Given the description of an element on the screen output the (x, y) to click on. 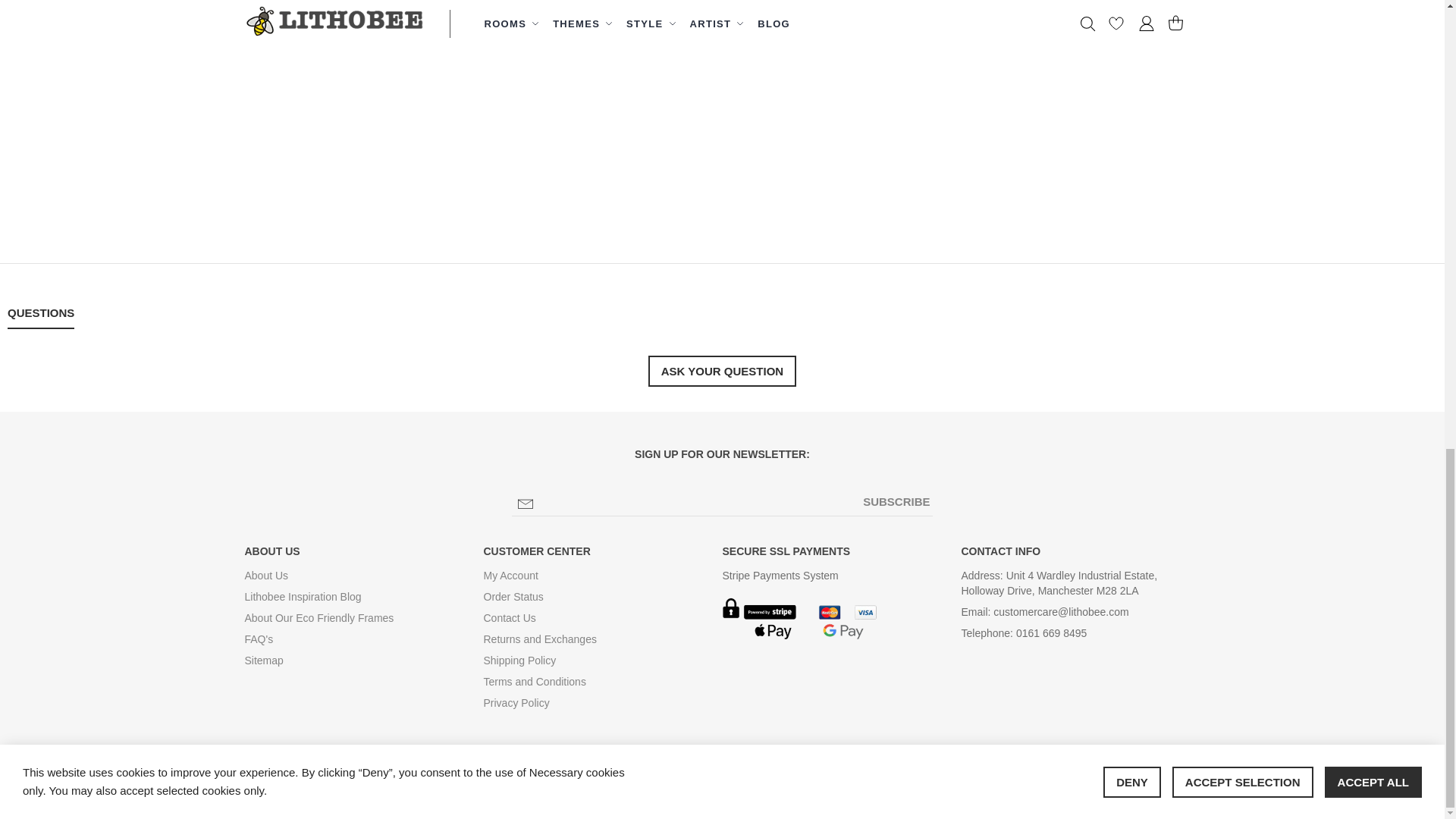
Subscribe (895, 502)
